Given the description of an element on the screen output the (x, y) to click on. 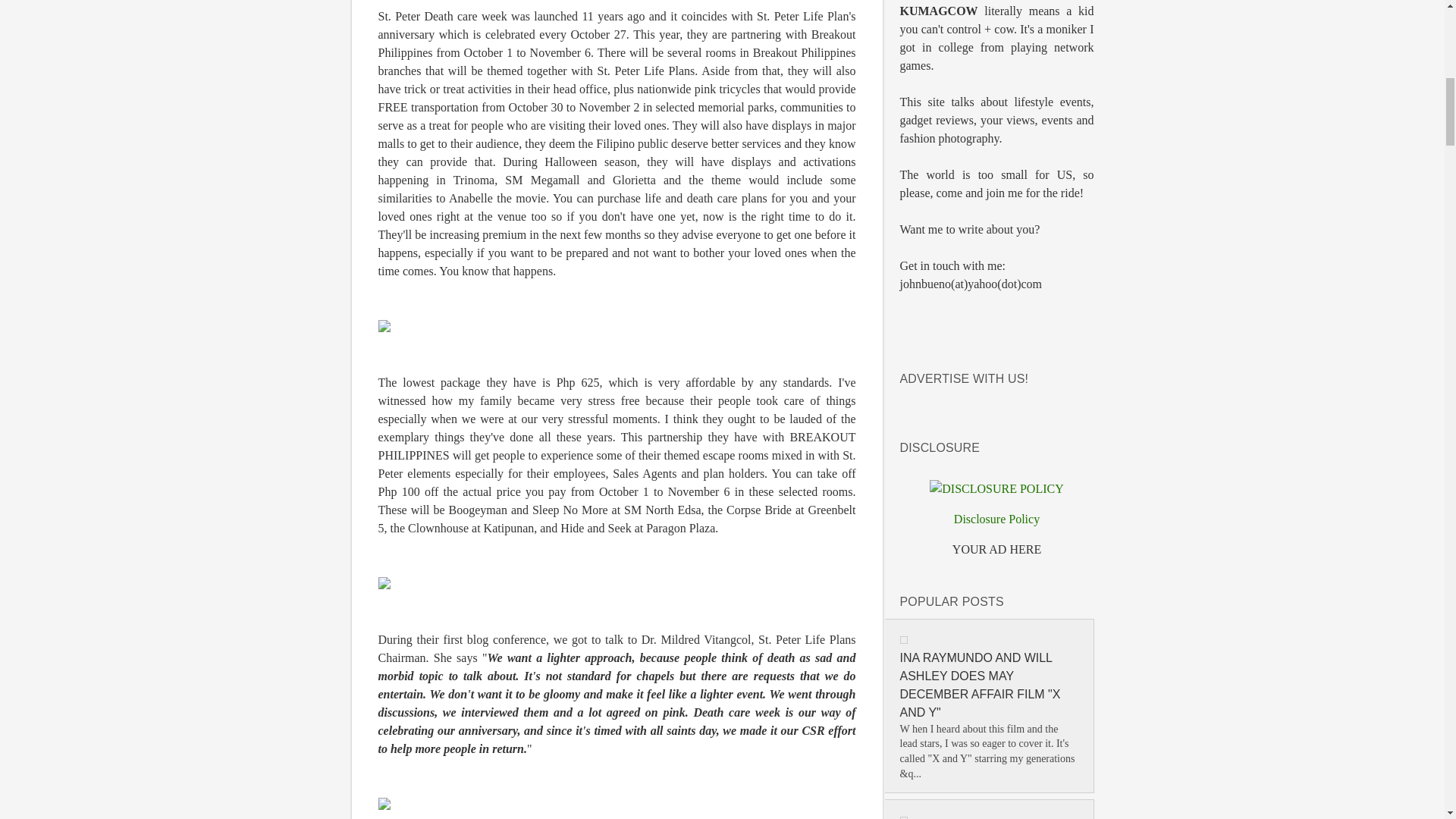
Disclosure Policy (996, 518)
